Given the description of an element on the screen output the (x, y) to click on. 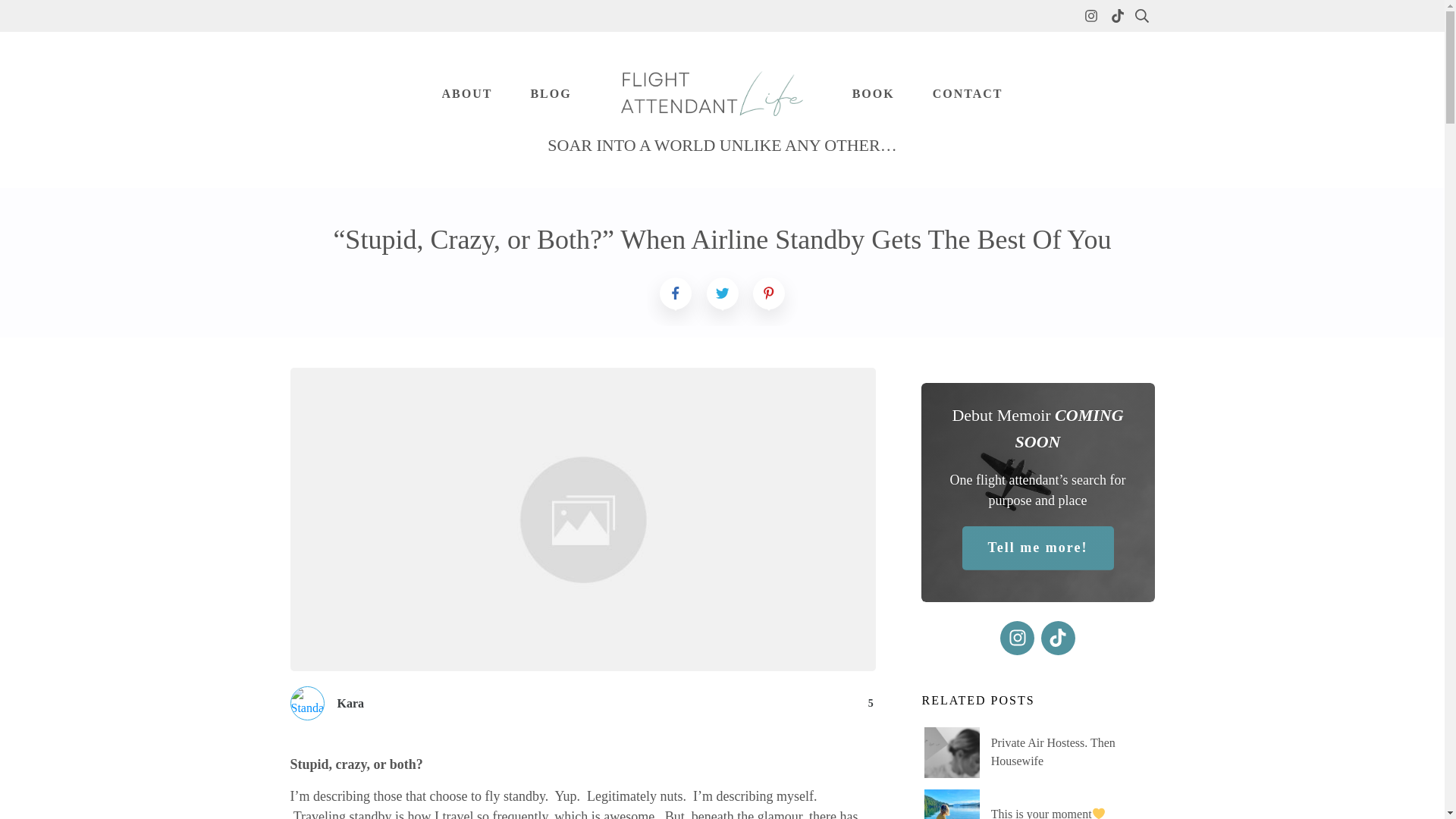
BOOK (873, 93)
5 (816, 703)
how I travel so frequently (477, 814)
CONTACT (968, 93)
Private Air Hostess. Then Housewife (1053, 751)
Standard Post (307, 703)
BLOG (549, 93)
ABOUT (466, 93)
